Given the description of an element on the screen output the (x, y) to click on. 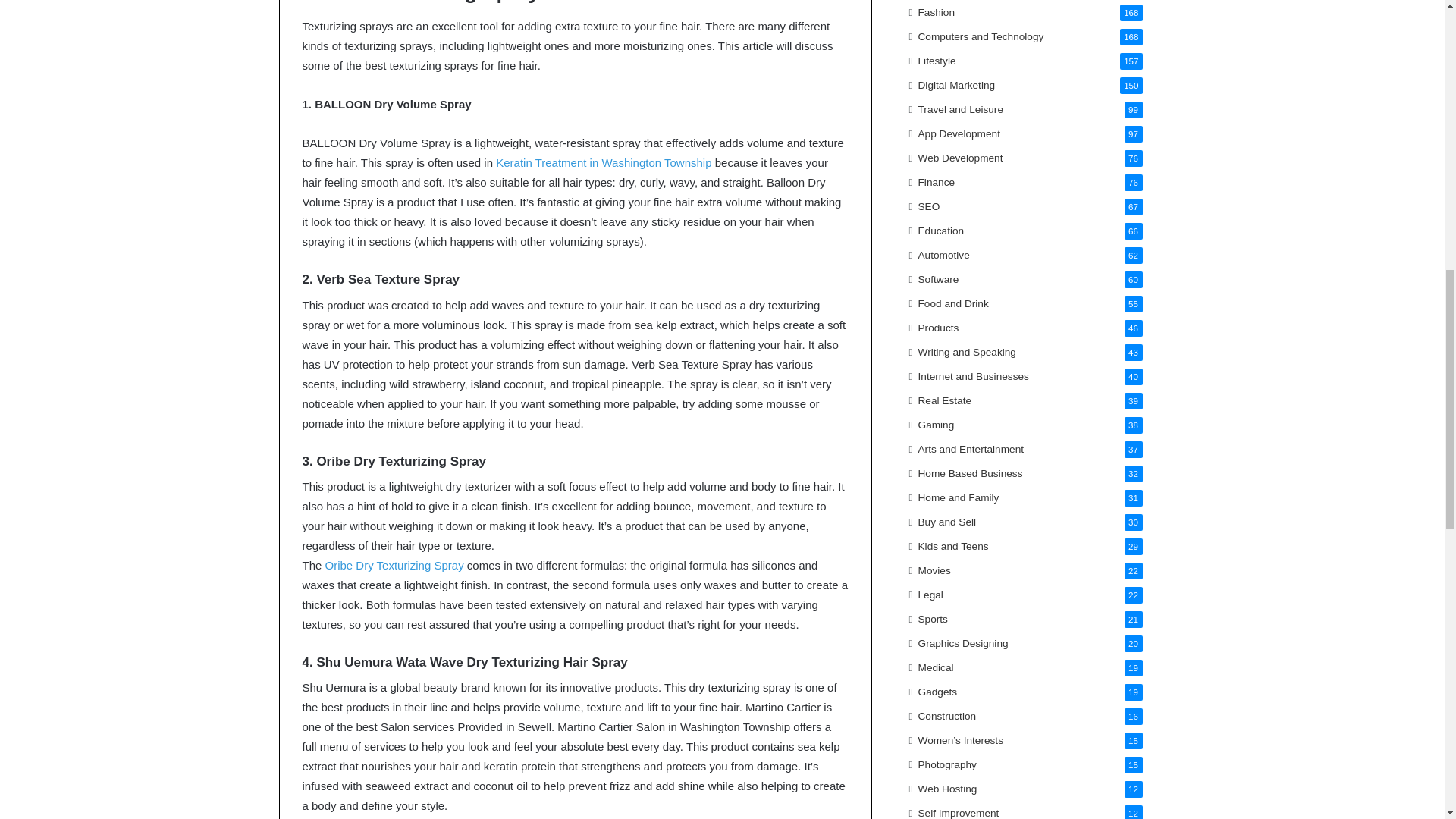
Keratin Treatment in Washington Township (603, 162)
Oribe Dry Texturizing Spray (394, 564)
